Given the description of an element on the screen output the (x, y) to click on. 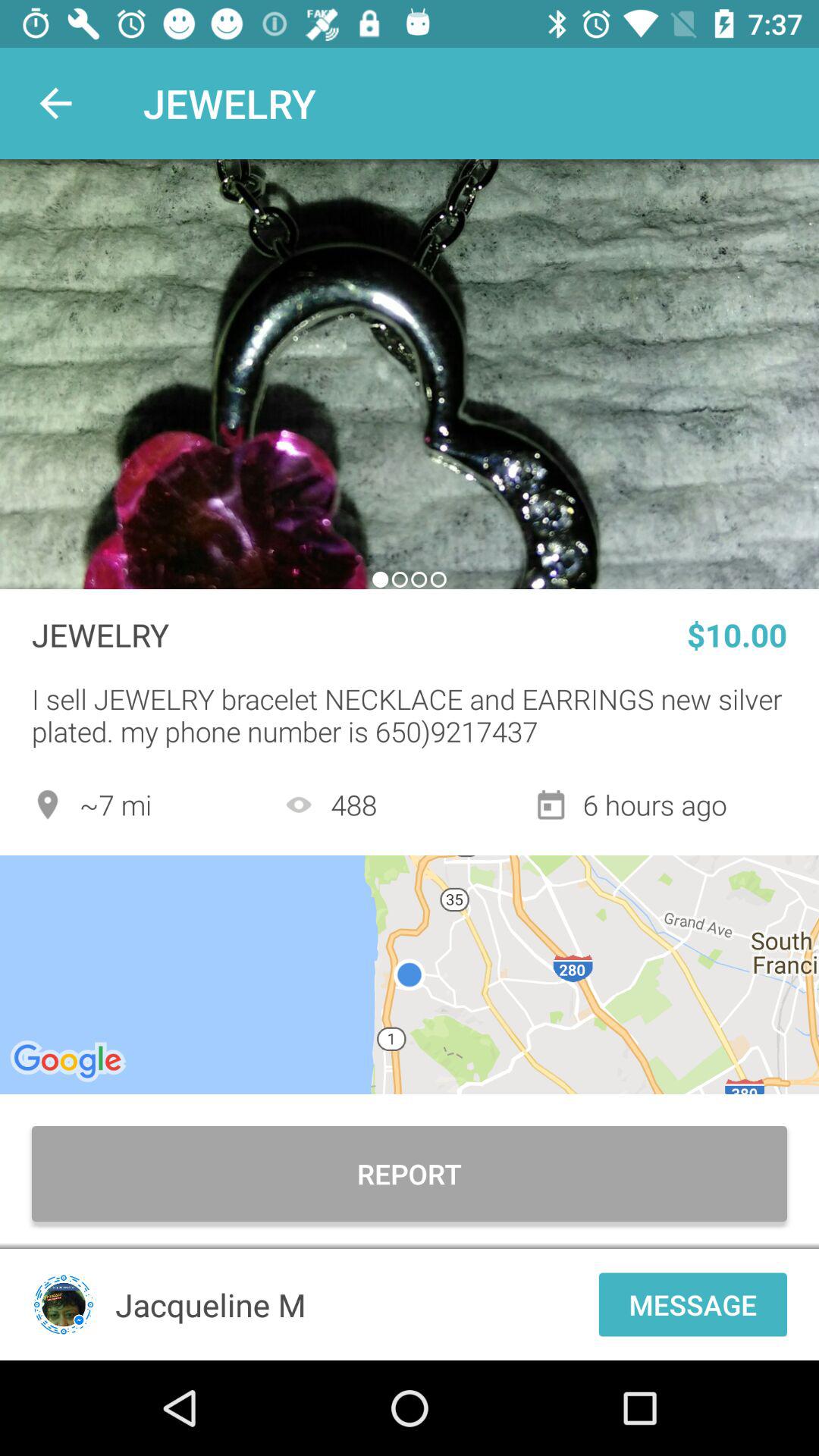
tap the icon next to the jacqueline m (692, 1304)
